Given the description of an element on the screen output the (x, y) to click on. 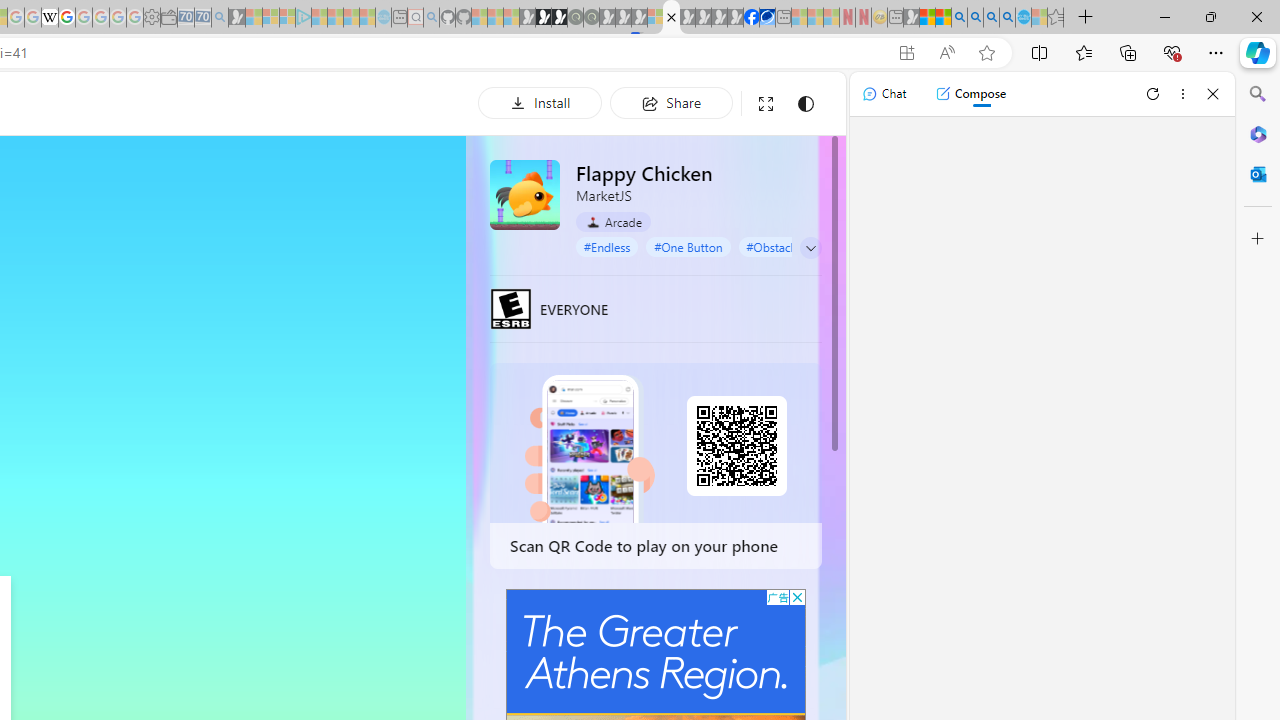
Target page - Wikipedia (49, 17)
MSN - Sleeping (911, 17)
